Given the description of an element on the screen output the (x, y) to click on. 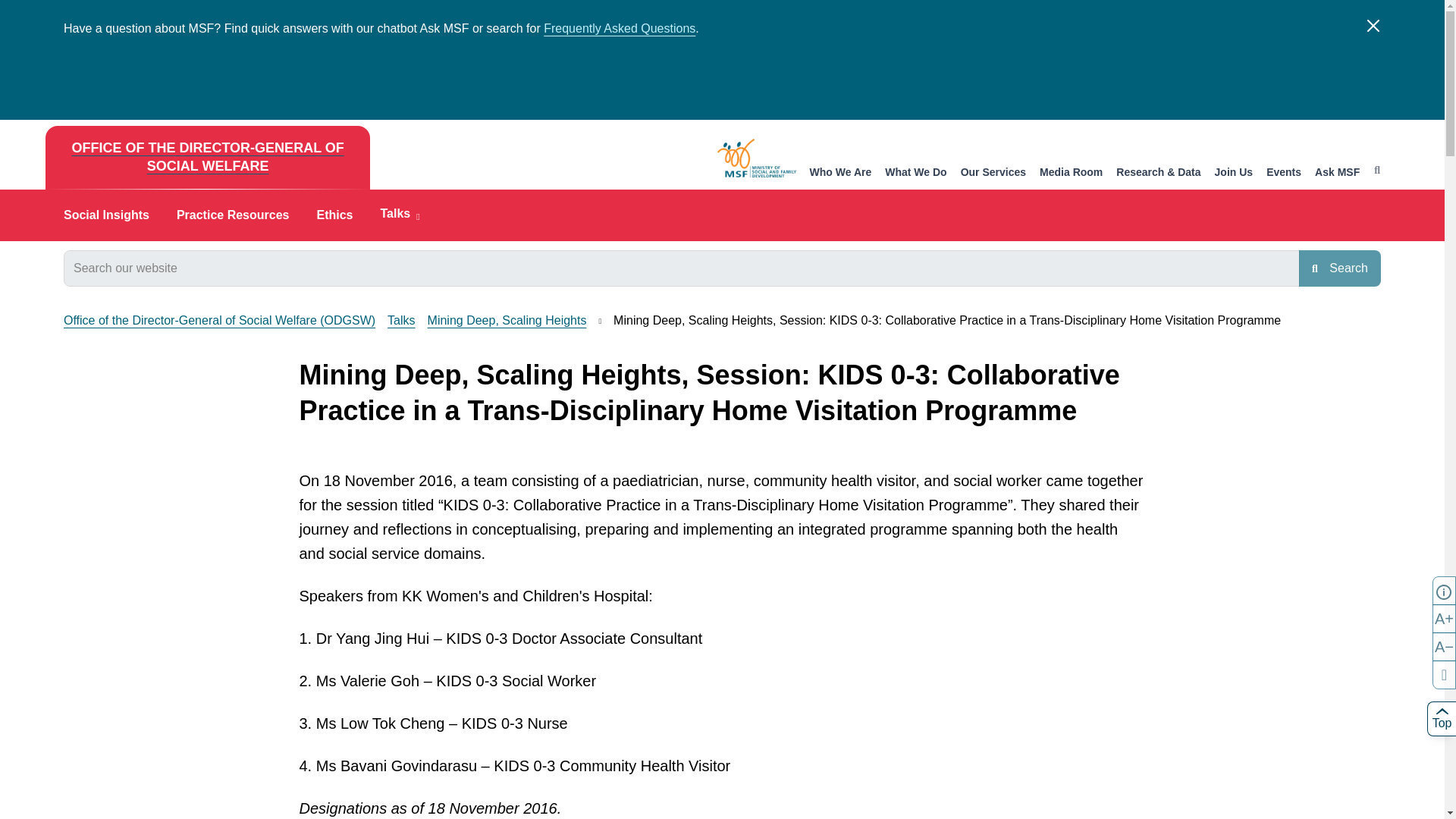
What We Do (915, 172)
Ask MSF (1336, 172)
Events (1283, 172)
OFFICE OF THE DIRECTOR-GENERAL OF SOCIAL WELFARE (207, 157)
Media Room (1070, 172)
MSF logo (756, 157)
Join Us (1233, 172)
Frequently Asked Questions (619, 28)
Who We Are (840, 172)
Our Services (993, 172)
